Given the description of an element on the screen output the (x, y) to click on. 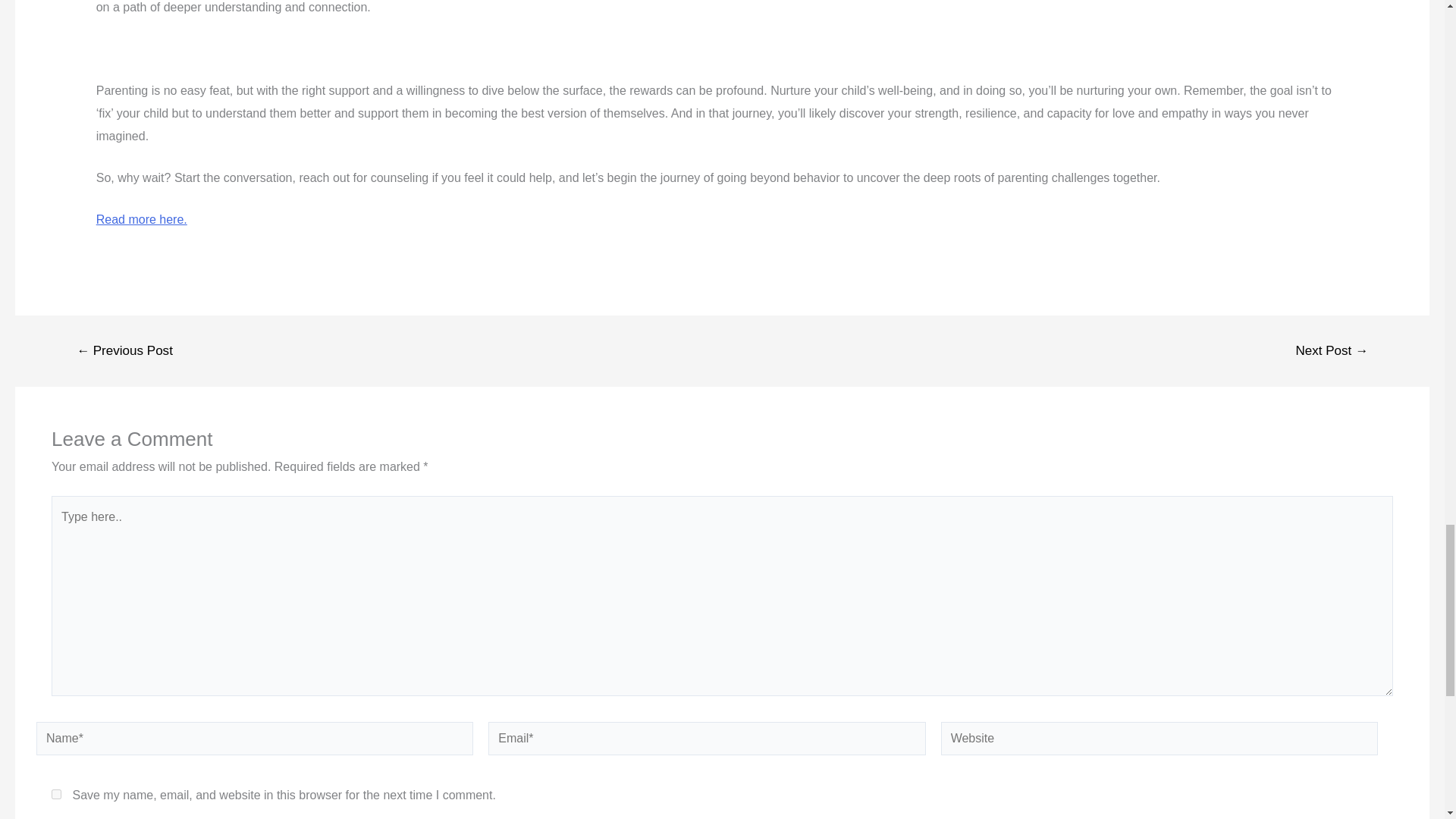
yes (55, 794)
Read more here. (141, 219)
